Given the description of an element on the screen output the (x, y) to click on. 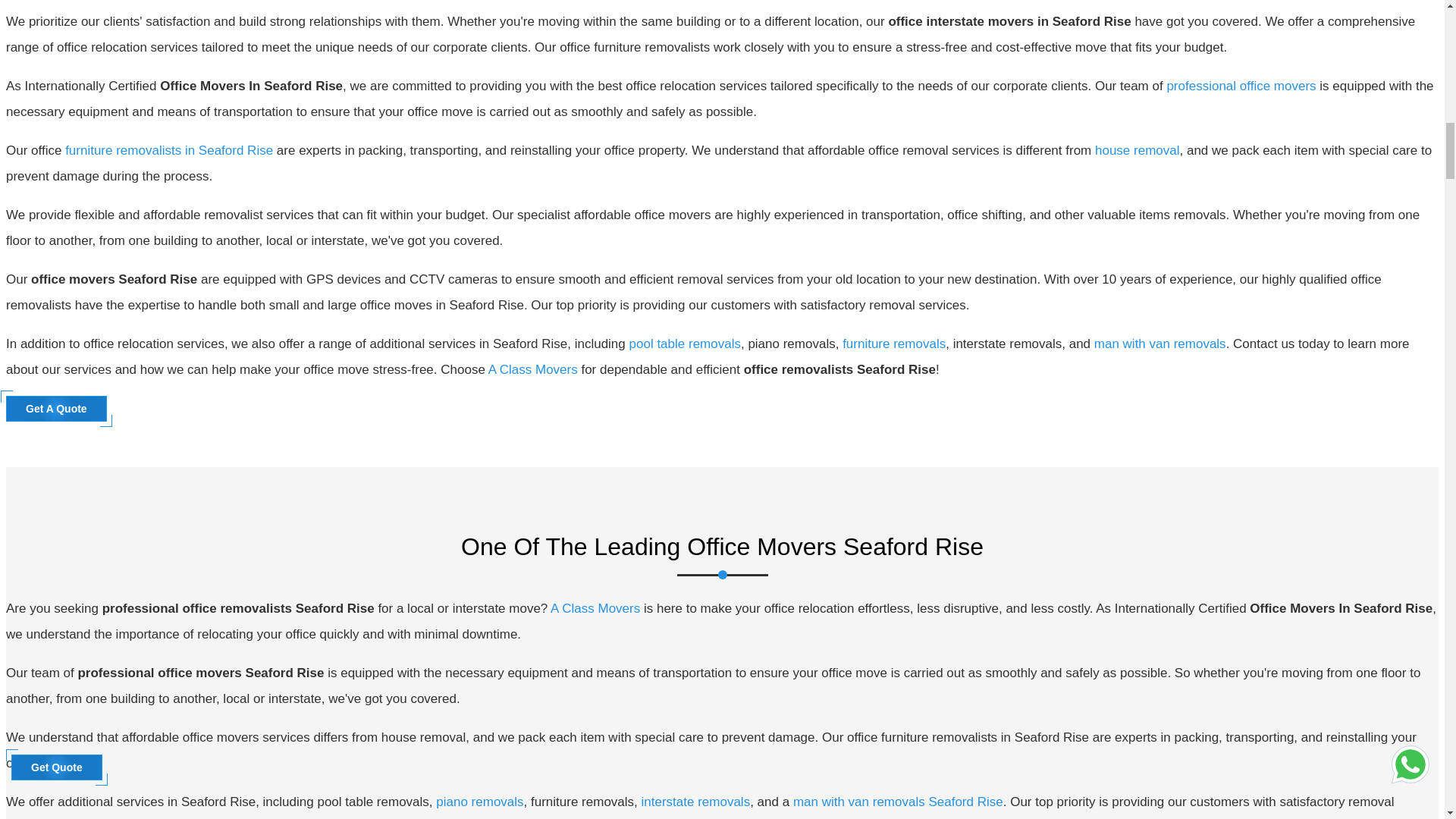
furniture removalists in Seaford Rise (169, 150)
professional office movers (1241, 85)
furniture removals (893, 343)
house removal (1136, 150)
pool table removals (684, 343)
